Given the description of an element on the screen output the (x, y) to click on. 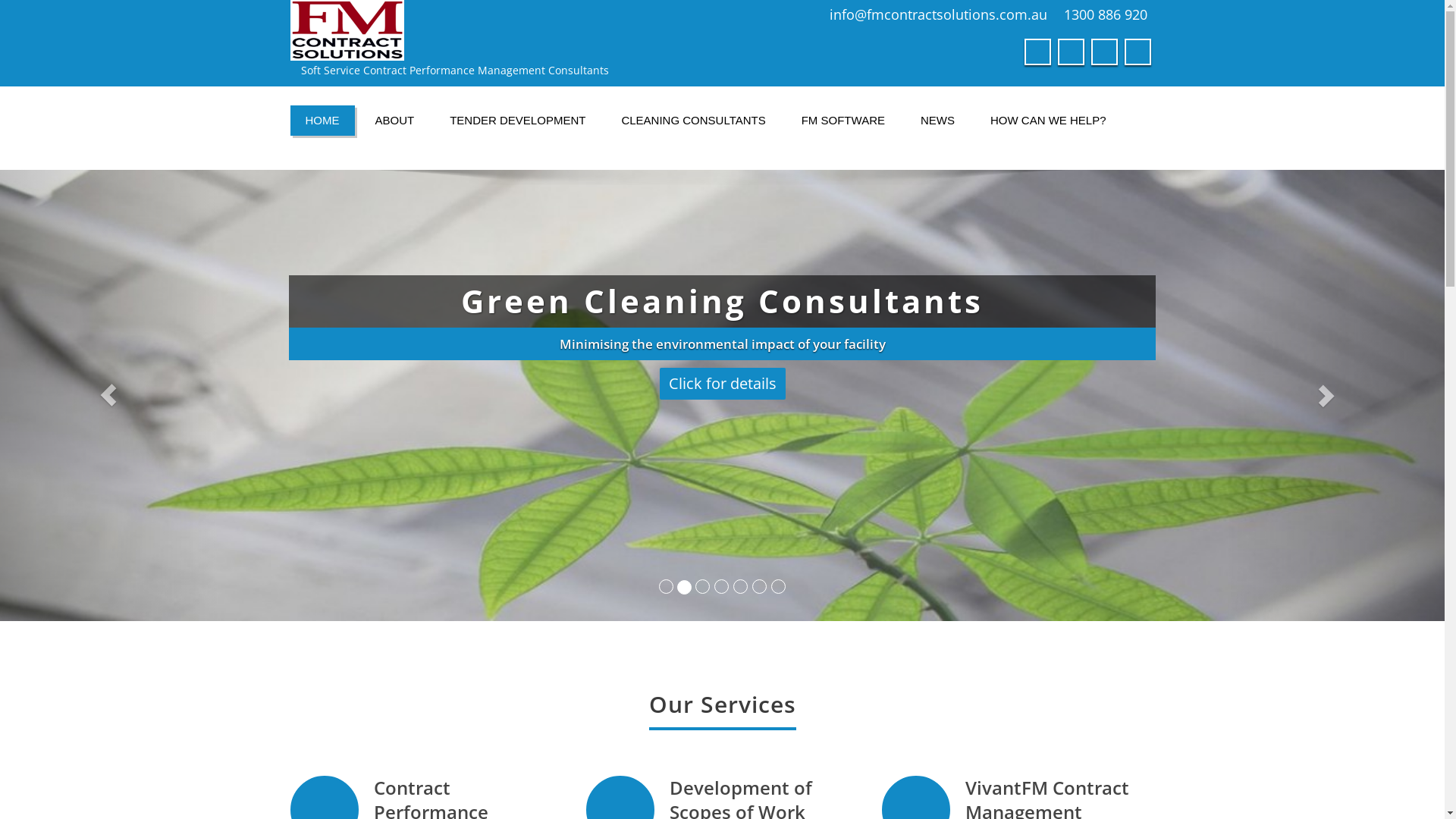
Contract Performance Management Element type: text (431, 360)
1300 886 920 Element type: text (1104, 14)
FM Contract Solutions Element type: hover (499, 30)
FM SOFTWARE Element type: text (843, 120)
HOME Element type: text (321, 120)
HOW CAN WE HELP? Element type: text (1048, 120)
TENDER DEVELOPMENT Element type: text (517, 120)
ABOUT Element type: text (394, 120)
NEWS Element type: text (937, 120)
CLEANING CONSULTANTS Element type: text (692, 120)
info@fmcontractsolutions.com.au Element type: text (938, 14)
